Given the description of an element on the screen output the (x, y) to click on. 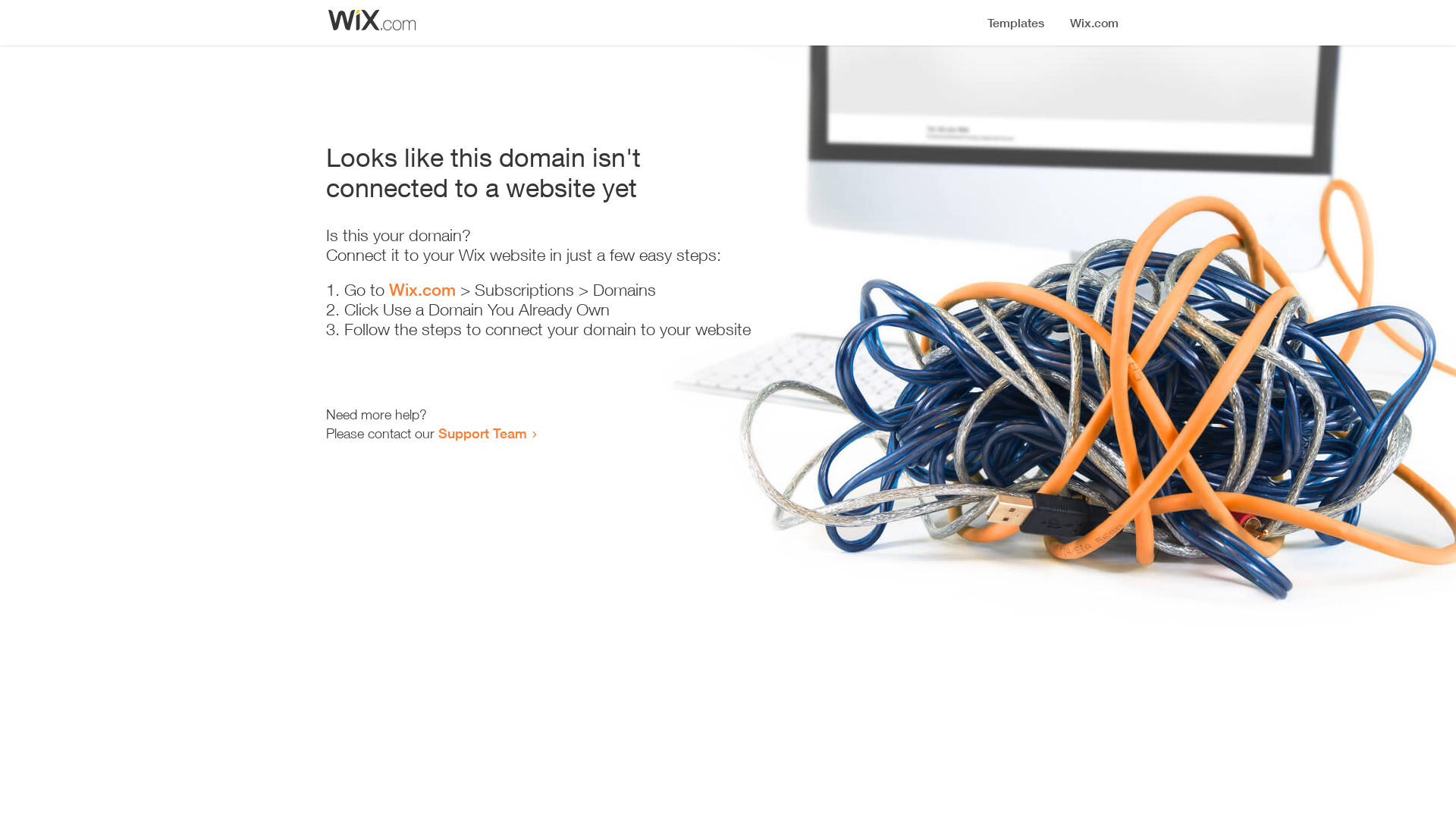
Support Team Element type: text (482, 432)
Wix.com Element type: text (422, 289)
